Given the description of an element on the screen output the (x, y) to click on. 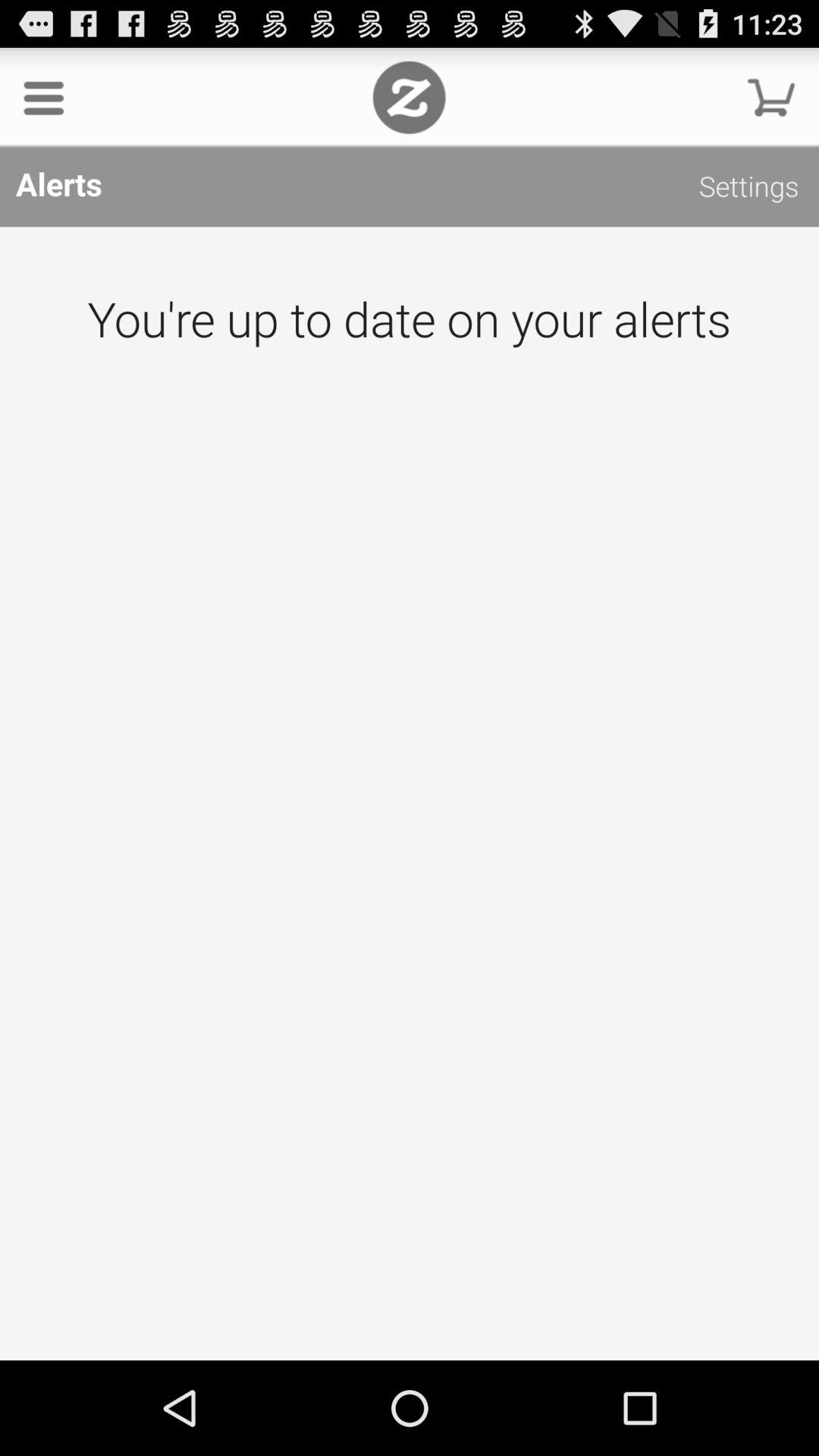
click the icon below alerts (409, 793)
